Given the description of an element on the screen output the (x, y) to click on. 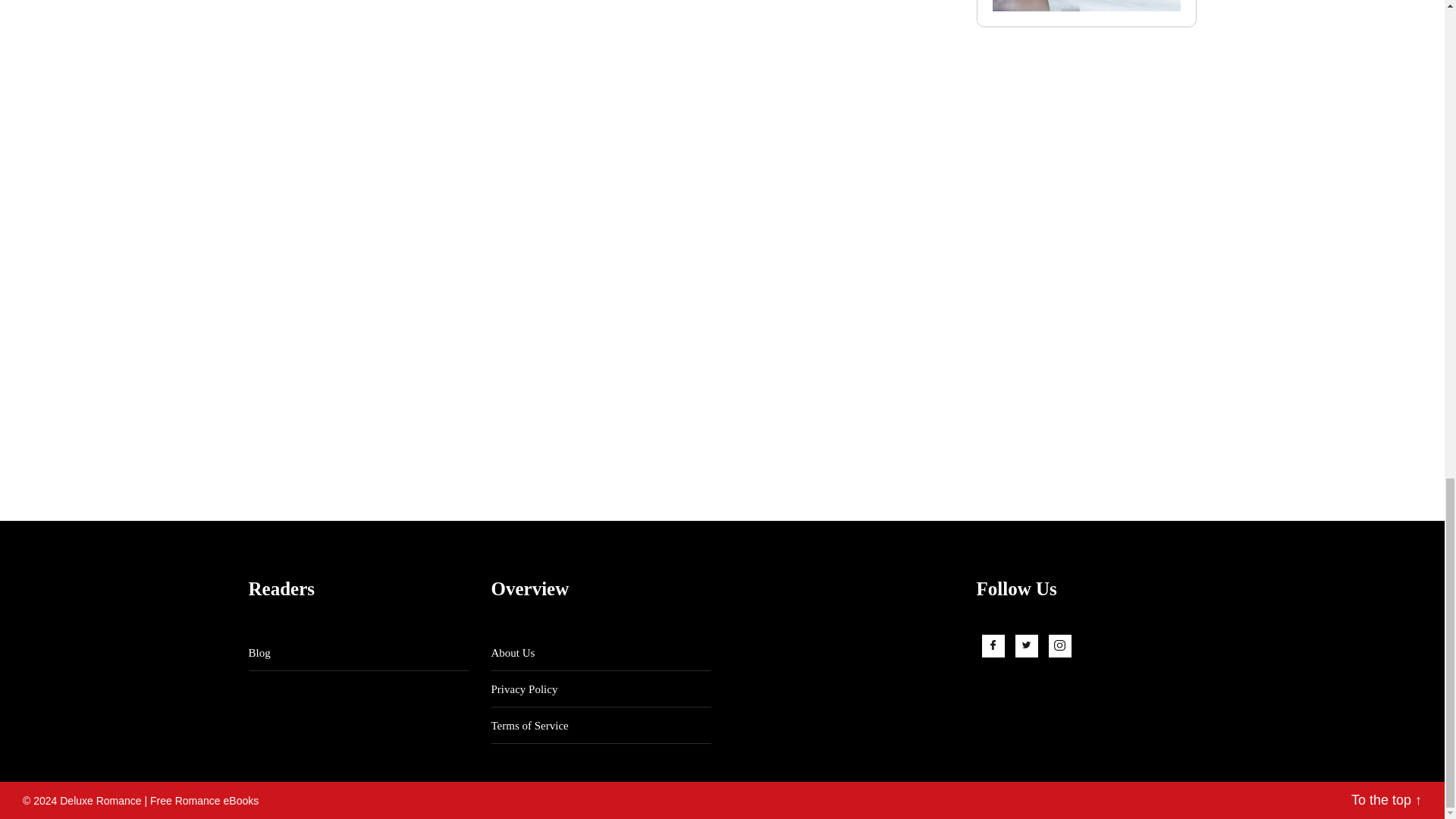
Terms of Service (530, 725)
About Us (513, 653)
Blog (259, 653)
Privacy Policy (524, 689)
Nine Inches of Snow and the Ebony Princess (1085, 5)
